Given the description of an element on the screen output the (x, y) to click on. 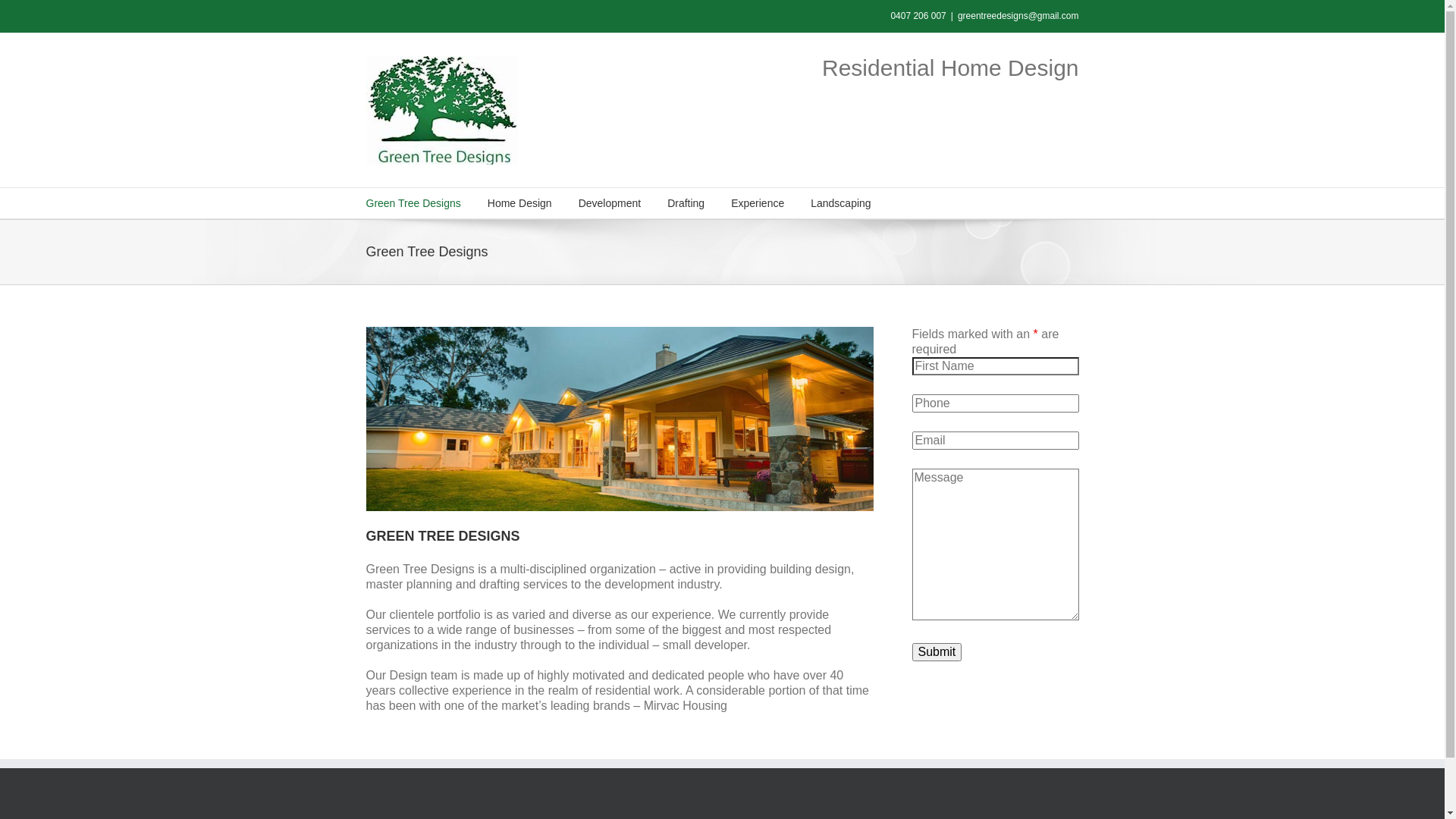
Green Tree Designs Element type: text (412, 203)
Development Element type: text (609, 203)
Experience Element type: text (757, 203)
Drafting Element type: text (685, 203)
greentreedesigns@gmail.com Element type: text (1018, 15)
Home Design Element type: text (519, 203)
Landscaping Element type: text (840, 203)
